Given the description of an element on the screen output the (x, y) to click on. 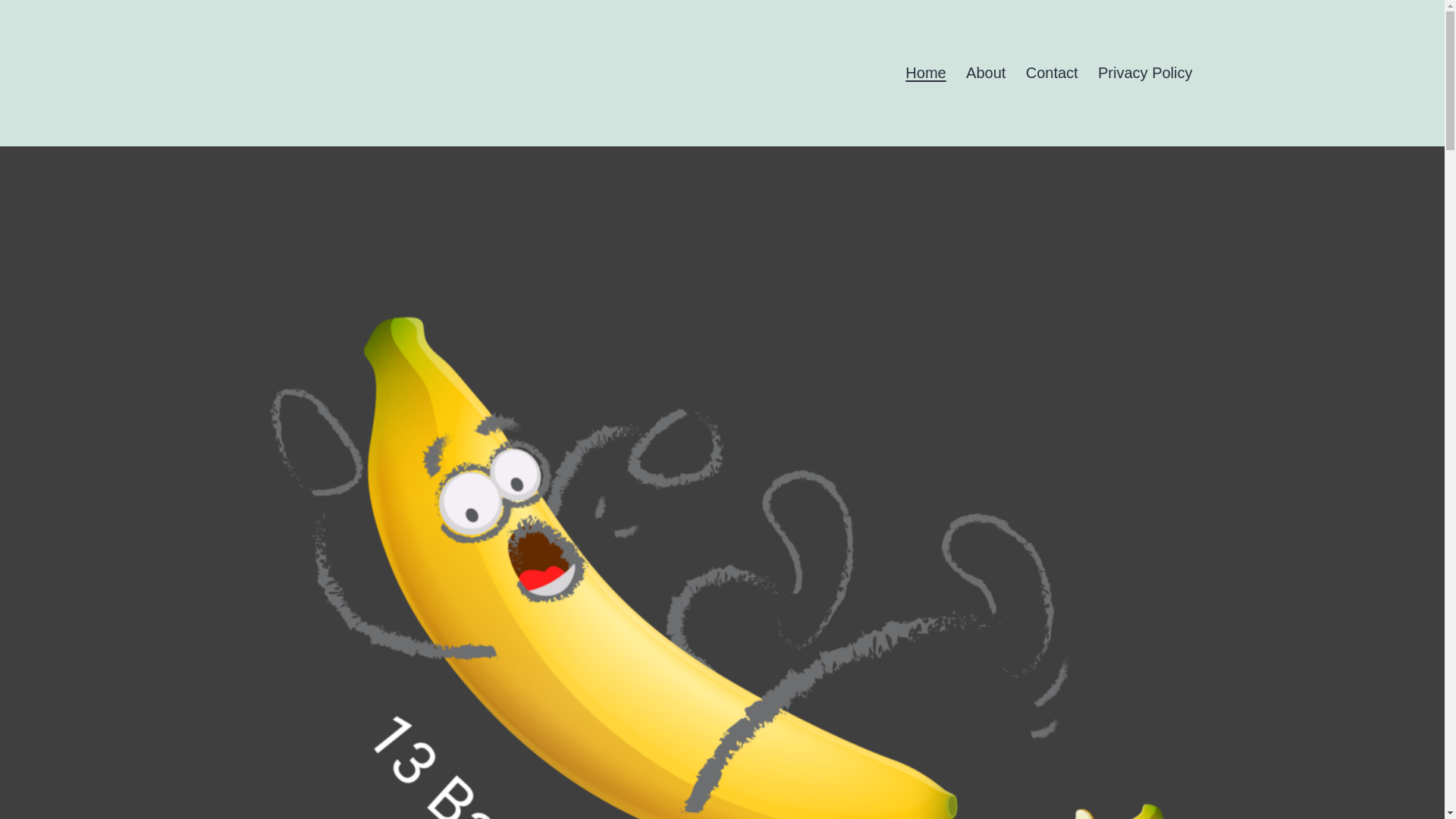
About (986, 72)
Privacy Policy (1144, 72)
Home (925, 72)
Contact (1051, 72)
